Given the description of an element on the screen output the (x, y) to click on. 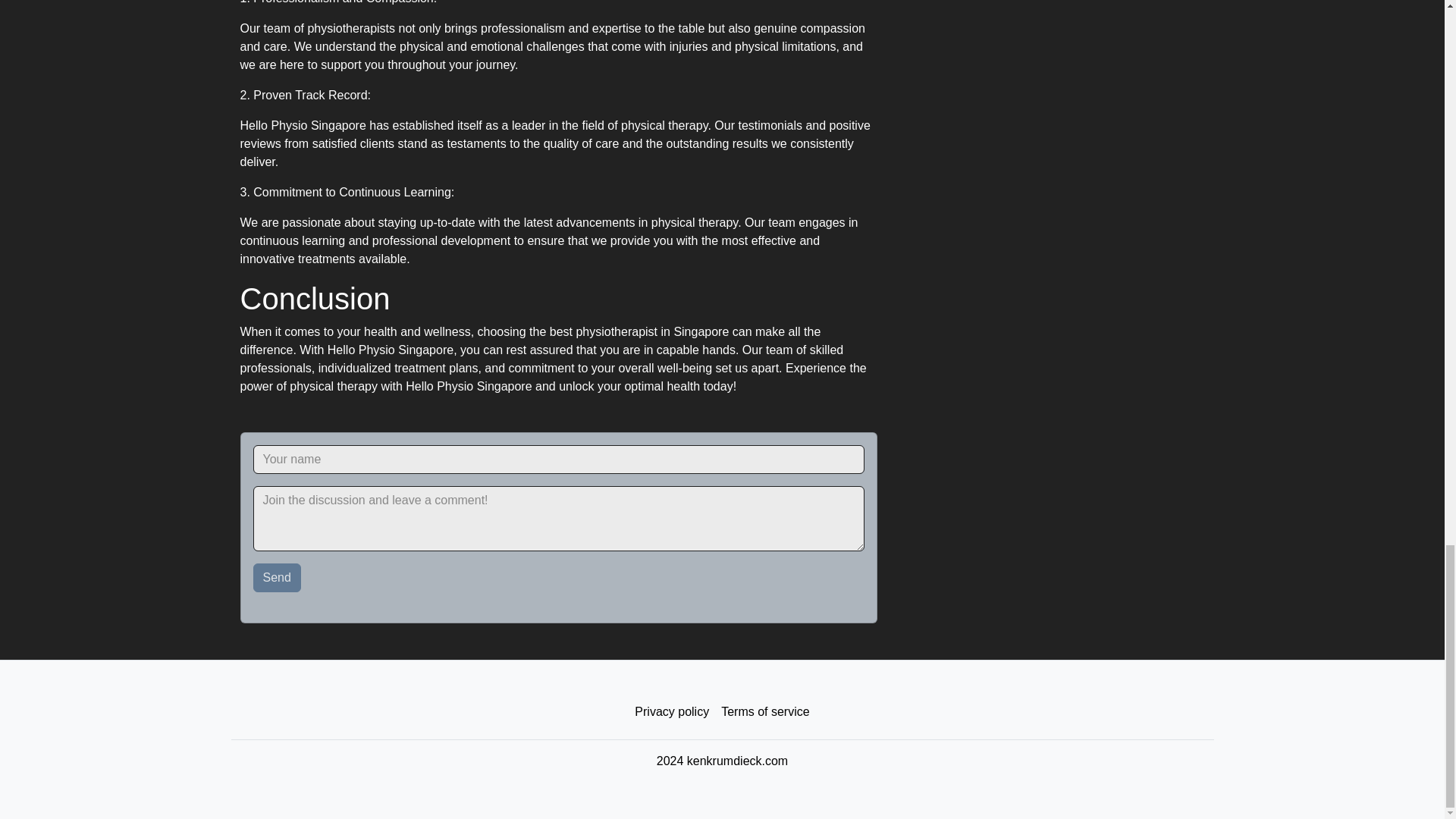
Send (277, 577)
Terms of service (764, 711)
Send (277, 577)
Privacy policy (671, 711)
